Given the description of an element on the screen output the (x, y) to click on. 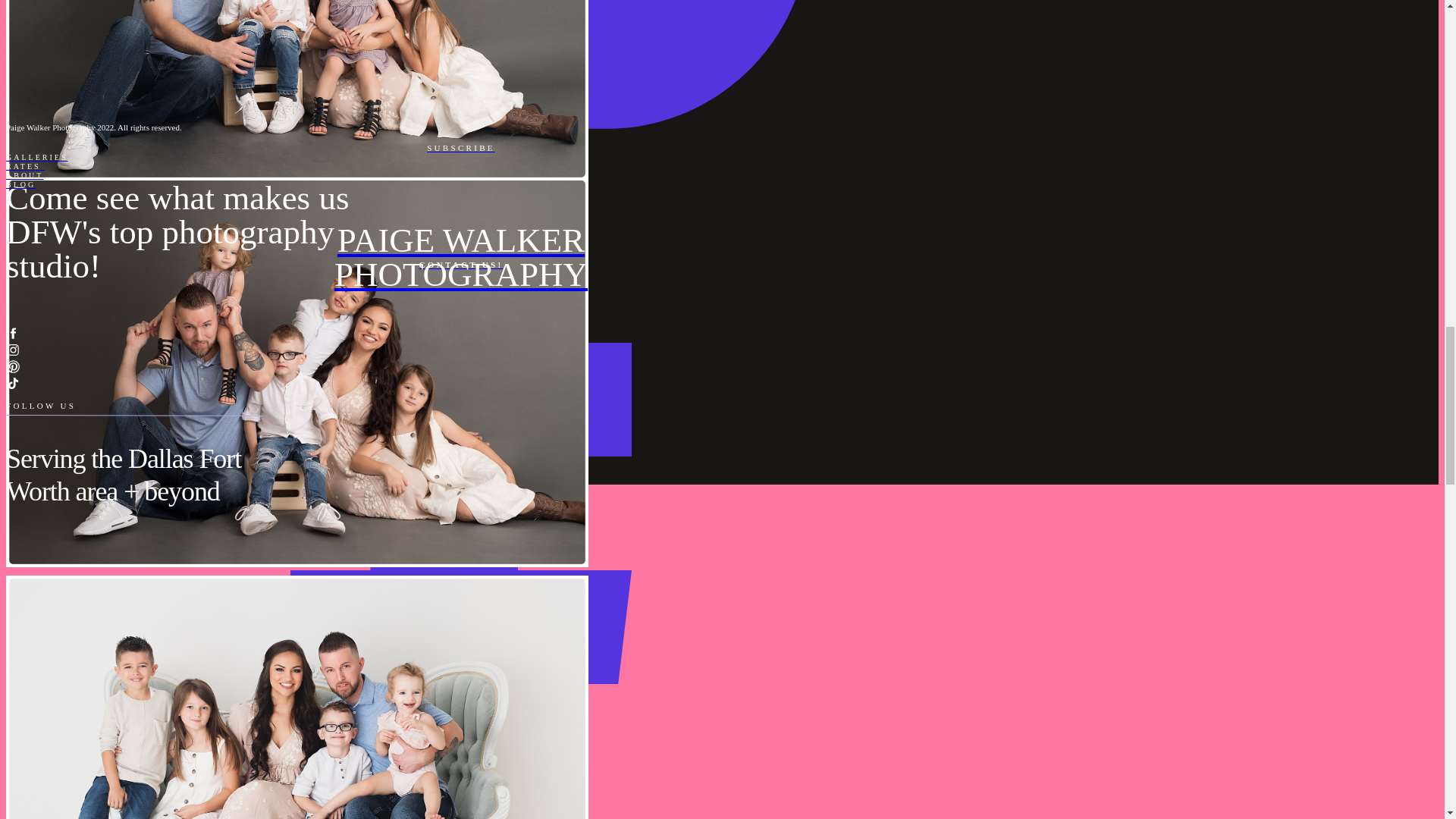
RATES  (460, 257)
